Given the description of an element on the screen output the (x, y) to click on. 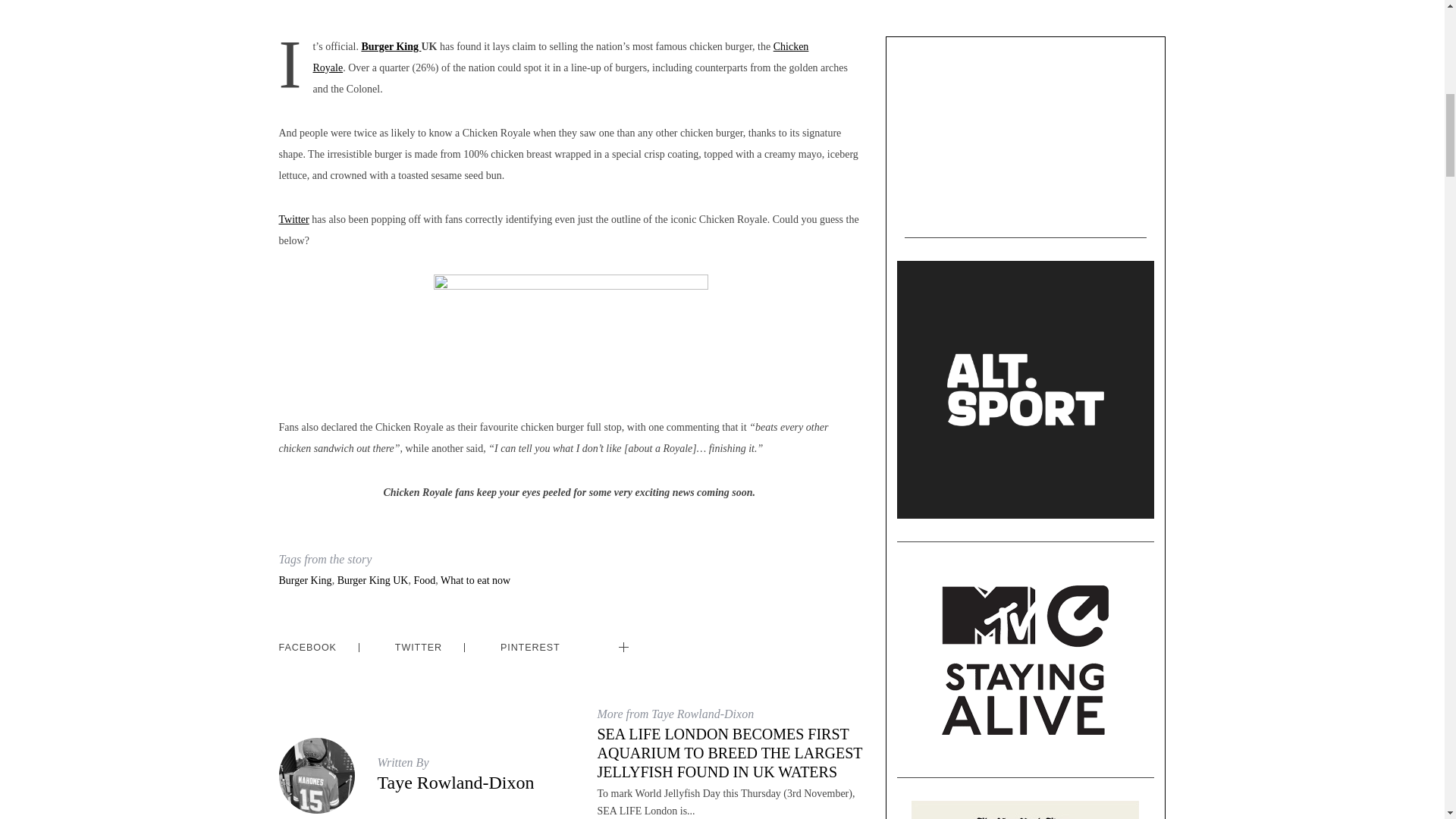
FACEBOOK (307, 647)
Burger King UK (373, 580)
LINKEDIN (668, 637)
What to eat now (476, 580)
YouTube video player (1025, 131)
Food (424, 580)
TWITTER (418, 647)
Taye Rowland-Dixon (455, 782)
PINTEREST (530, 647)
